Given the description of an element on the screen output the (x, y) to click on. 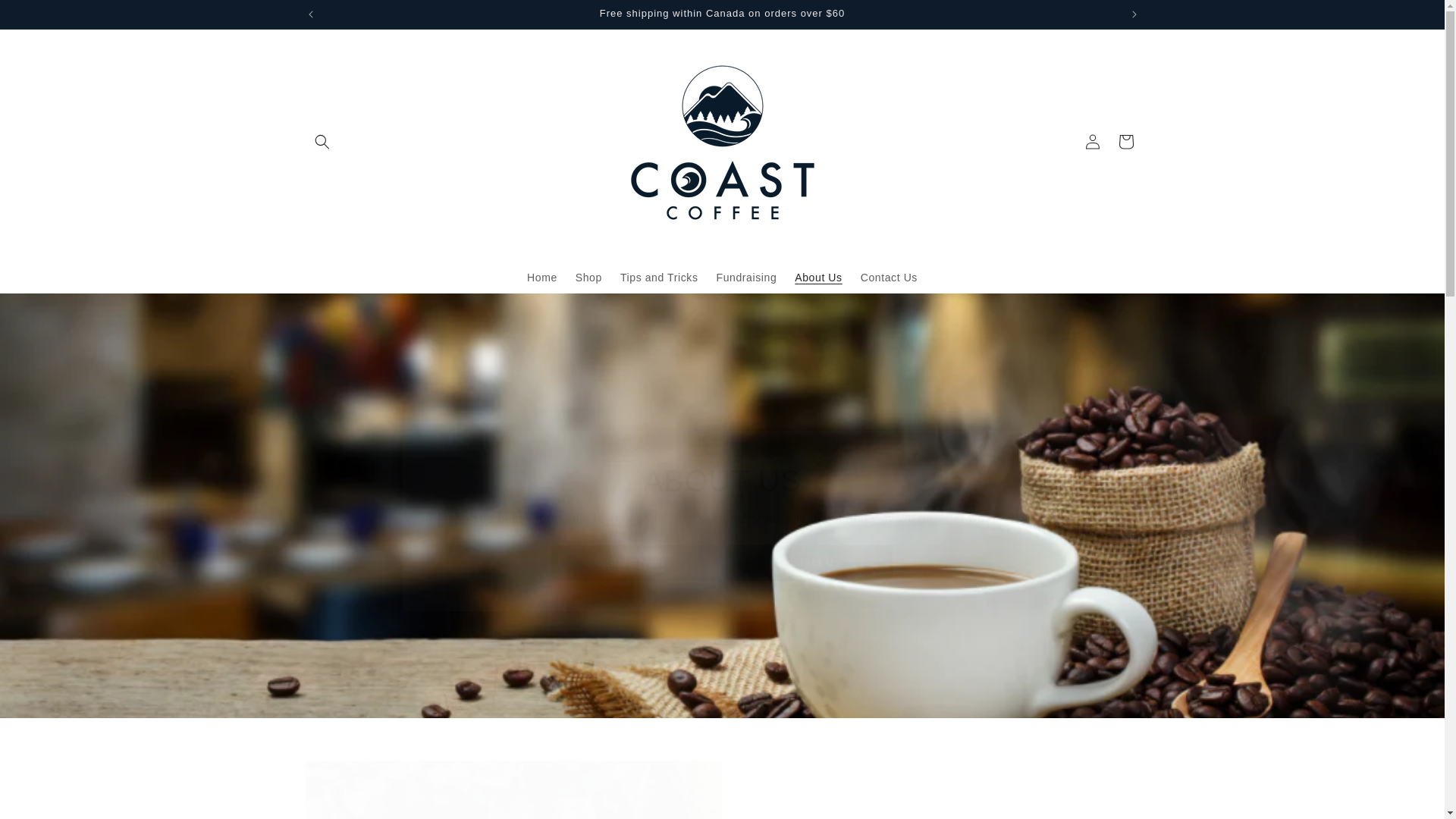
Cart (1124, 141)
Log in (1091, 141)
Shop Now (635, 562)
About Us (818, 276)
Fundraising (746, 276)
Shop (588, 276)
Contact Us (888, 276)
Skip to content (45, 17)
Tips and Tricks (659, 276)
Home (542, 276)
Contact Us (809, 562)
